Given the description of an element on the screen output the (x, y) to click on. 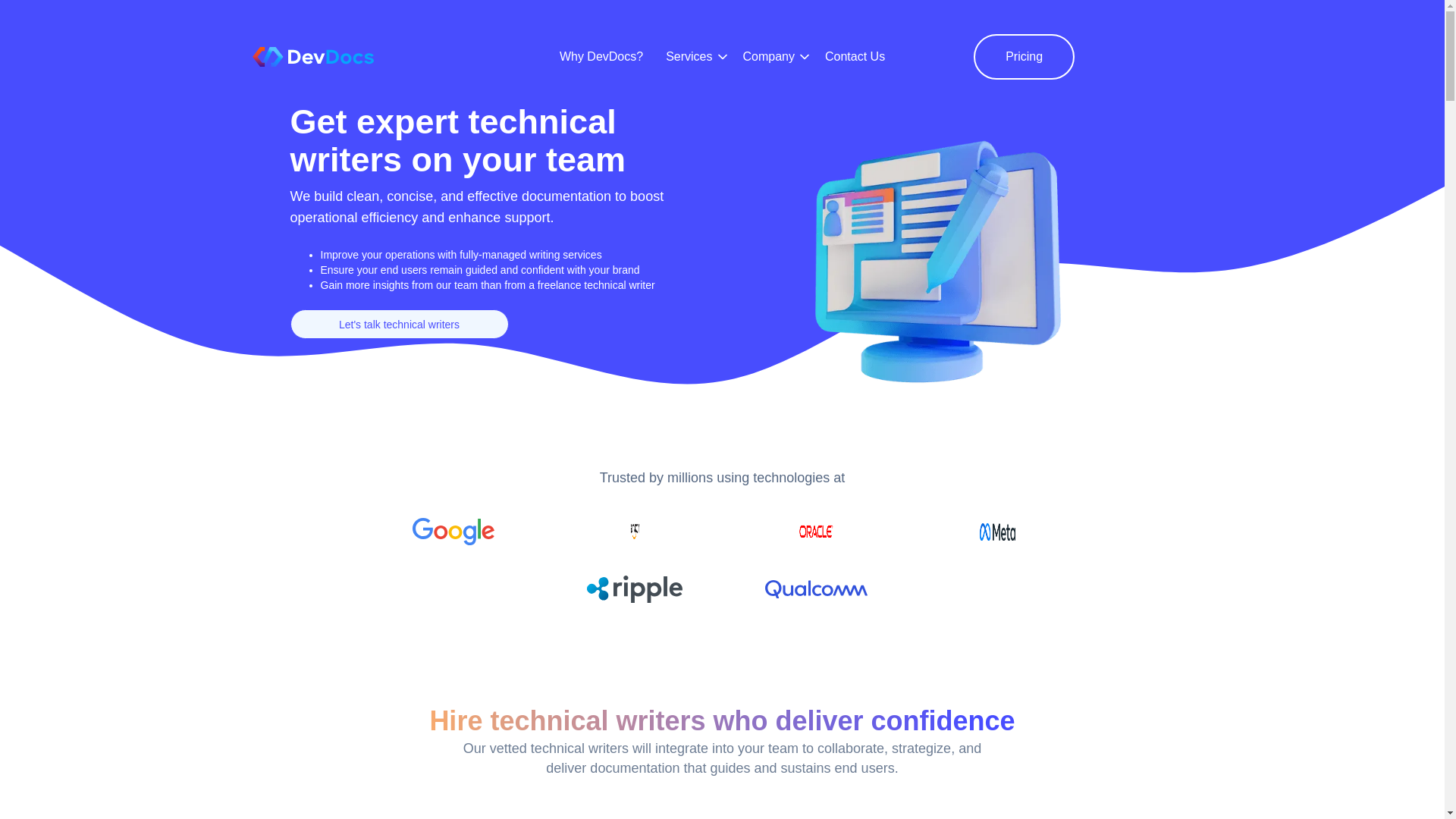
Pricing (1024, 56)
Why DevDocs? (600, 56)
Contact Us (854, 56)
Let's talk technical writers (398, 324)
